Given the description of an element on the screen output the (x, y) to click on. 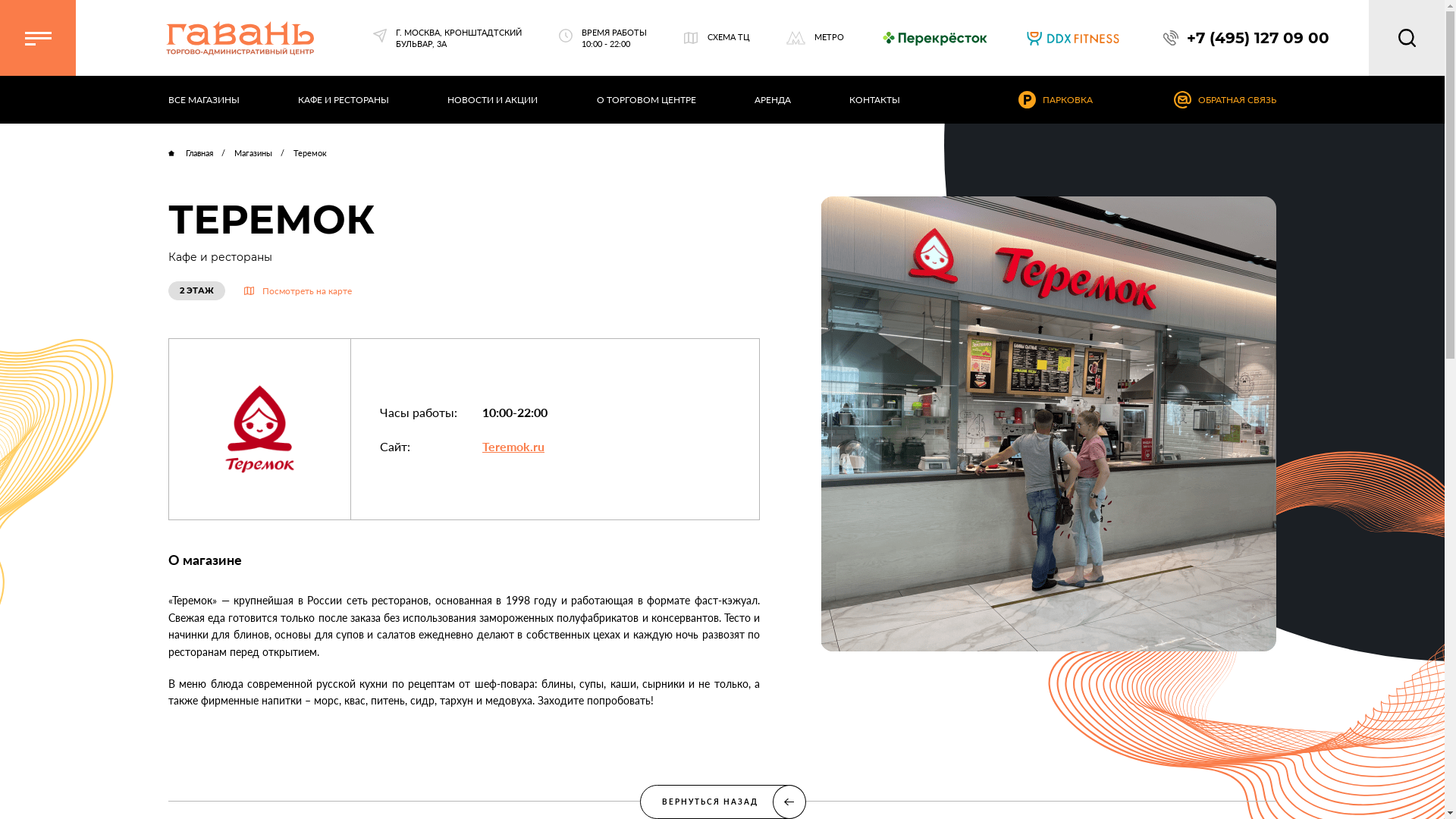
+7 (495) 127 09 00 Element type: text (1246, 37)
Teremok.ru Element type: text (513, 446)
